Given the description of an element on the screen output the (x, y) to click on. 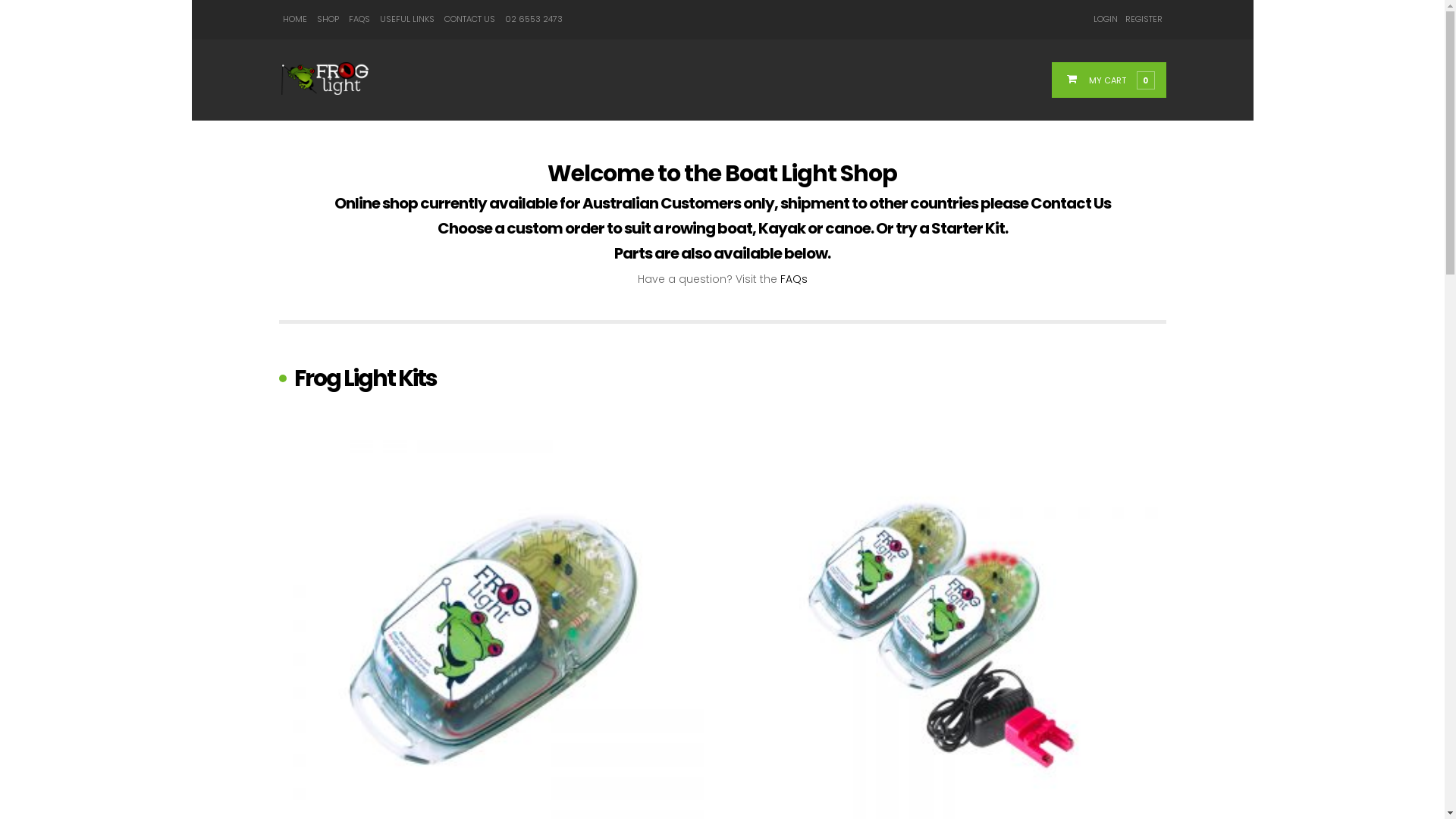
REGISTER Element type: text (1143, 18)
FAQs Element type: text (792, 278)
CONTACT US Element type: text (469, 18)
SHOP Element type: text (327, 18)
HOME Element type: text (294, 18)
02 6553 2473 Element type: text (533, 18)
MY CART 0 Element type: text (1117, 79)
Contact Us Element type: text (1069, 202)
LOGIN Element type: text (1105, 18)
FAQS Element type: text (359, 18)
USEFUL LINKS Element type: text (406, 18)
